Given the description of an element on the screen output the (x, y) to click on. 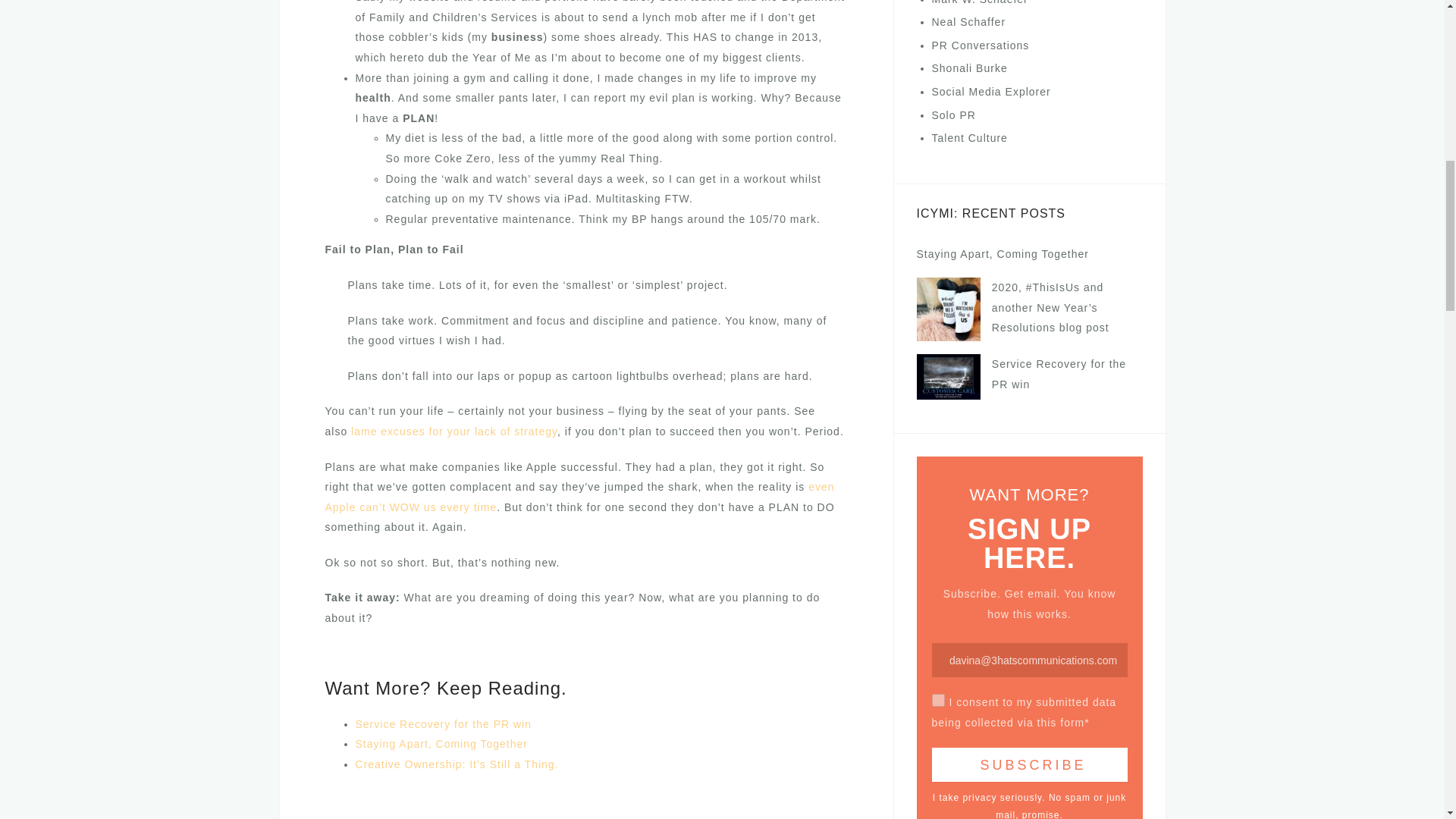
Service Recovery for the PR win (443, 724)
Human Resources and Employee Relations (969, 137)
Subscribe (1028, 764)
Staying Apart, Coming Together (441, 743)
on (937, 699)
Service Recovery for the PR win (443, 724)
Staying Apart, Coming Together (441, 743)
lame excuses for your lack of strategy (453, 431)
